Given the description of an element on the screen output the (x, y) to click on. 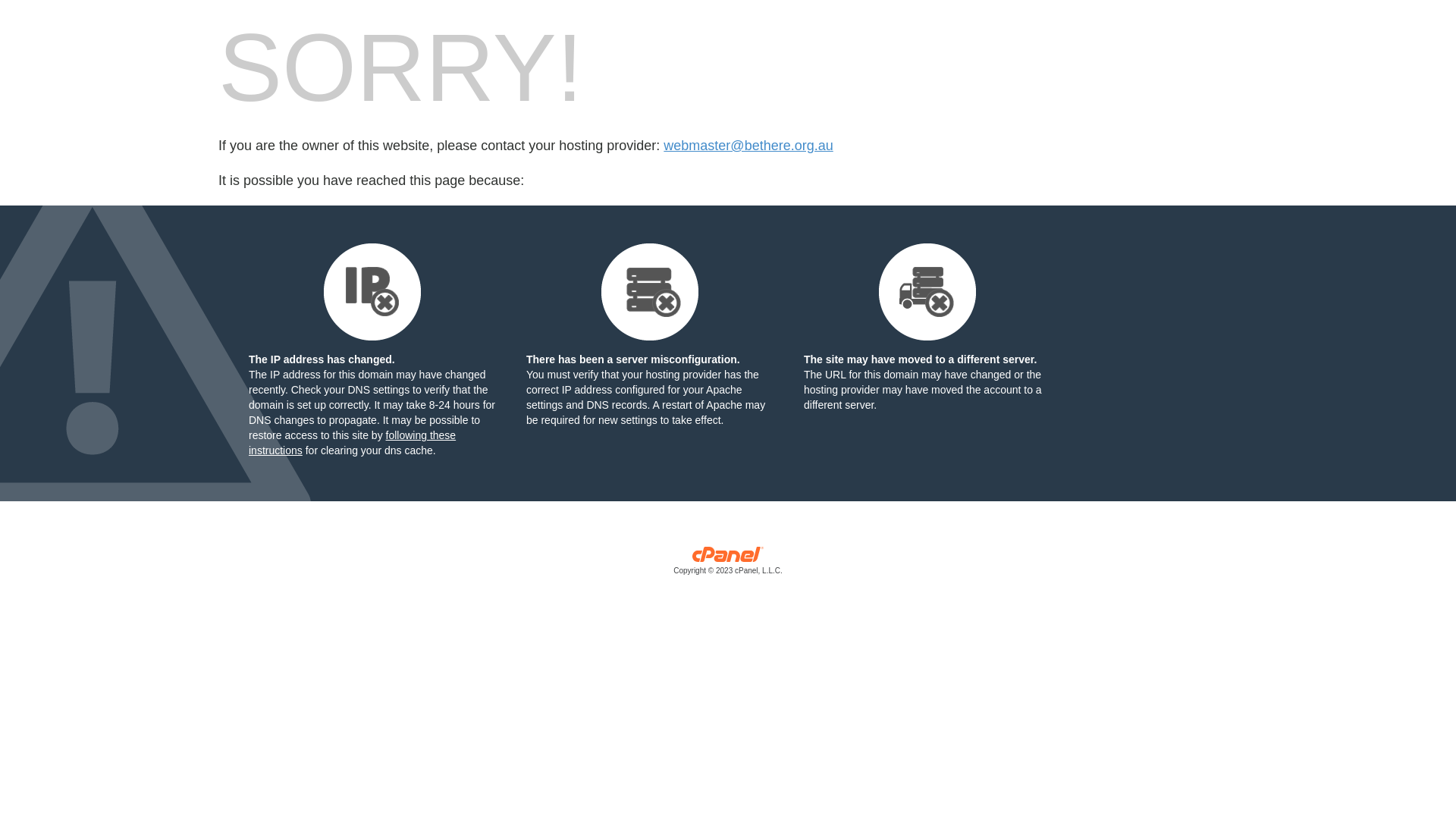
webmaster@bethere.org.au Element type: text (747, 145)
following these instructions Element type: text (351, 442)
